Given the description of an element on the screen output the (x, y) to click on. 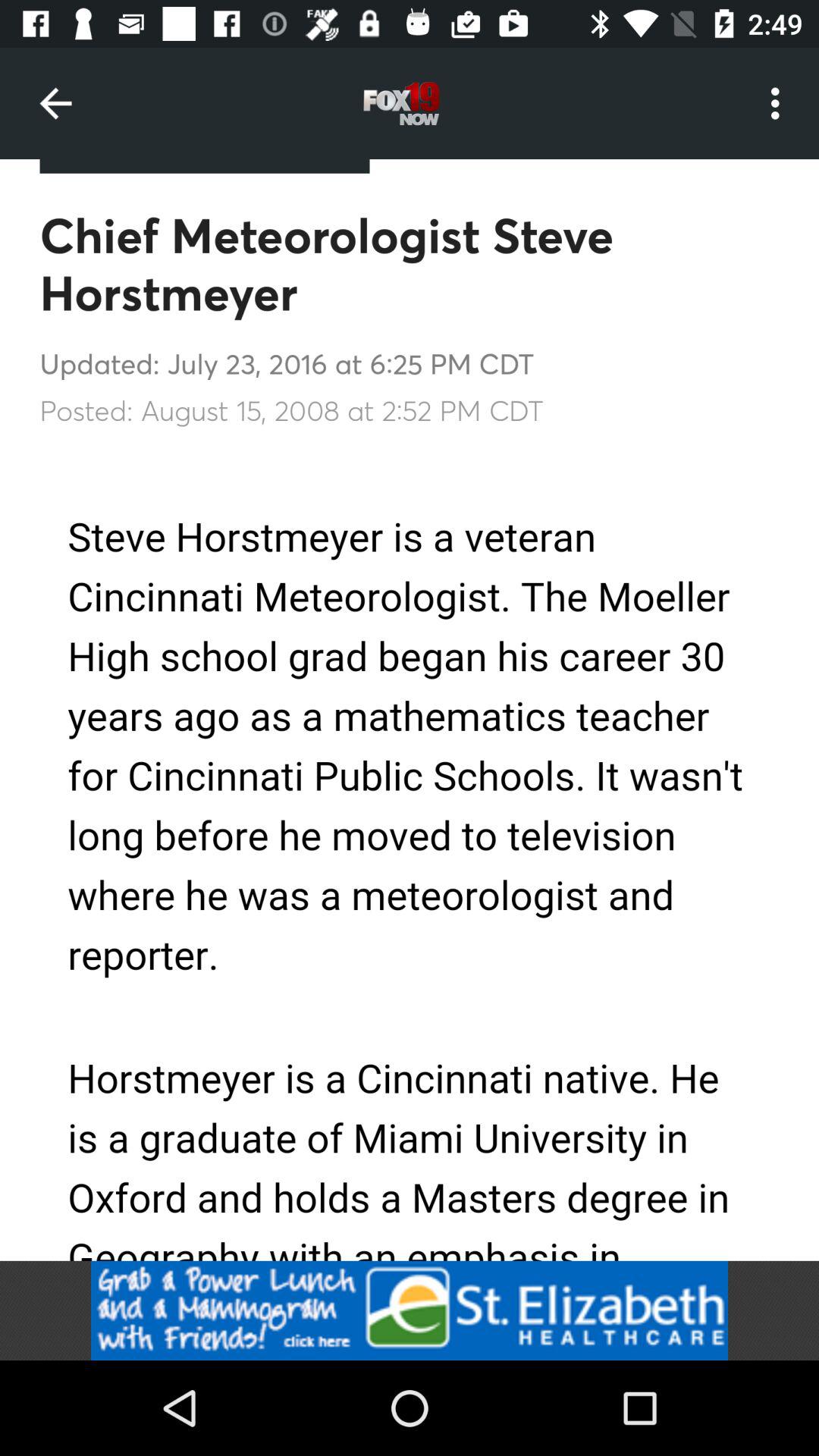
add the picture (409, 1310)
